Given the description of an element on the screen output the (x, y) to click on. 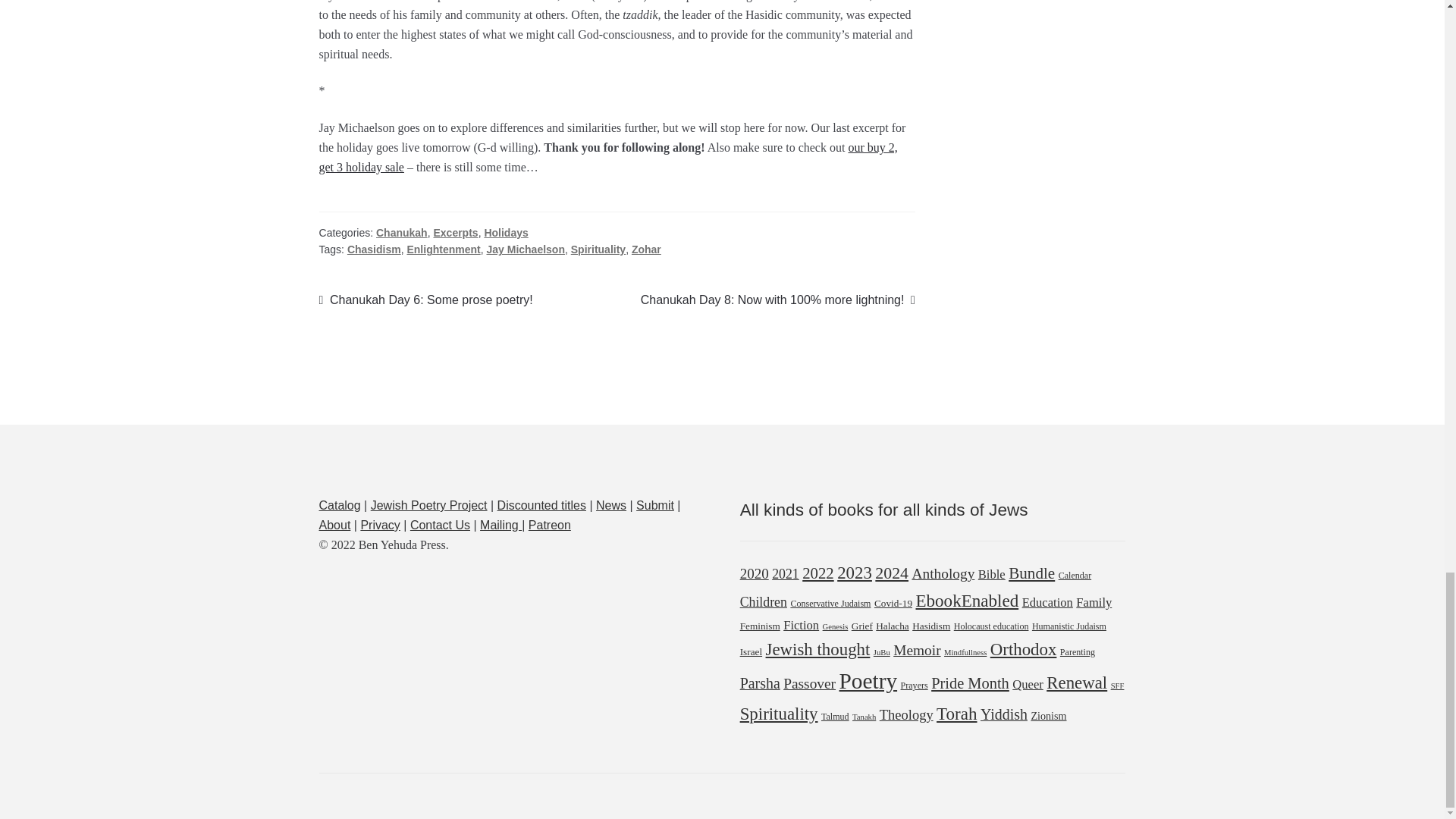
Spirituality (598, 249)
Holidays (505, 232)
Jay Michaelson (525, 249)
Zohar (646, 249)
Enlightenment (443, 249)
Chanukah (401, 232)
Excerpts (454, 232)
Chasidism (425, 300)
our buy 2, get 3 holiday sale (374, 249)
